Given the description of an element on the screen output the (x, y) to click on. 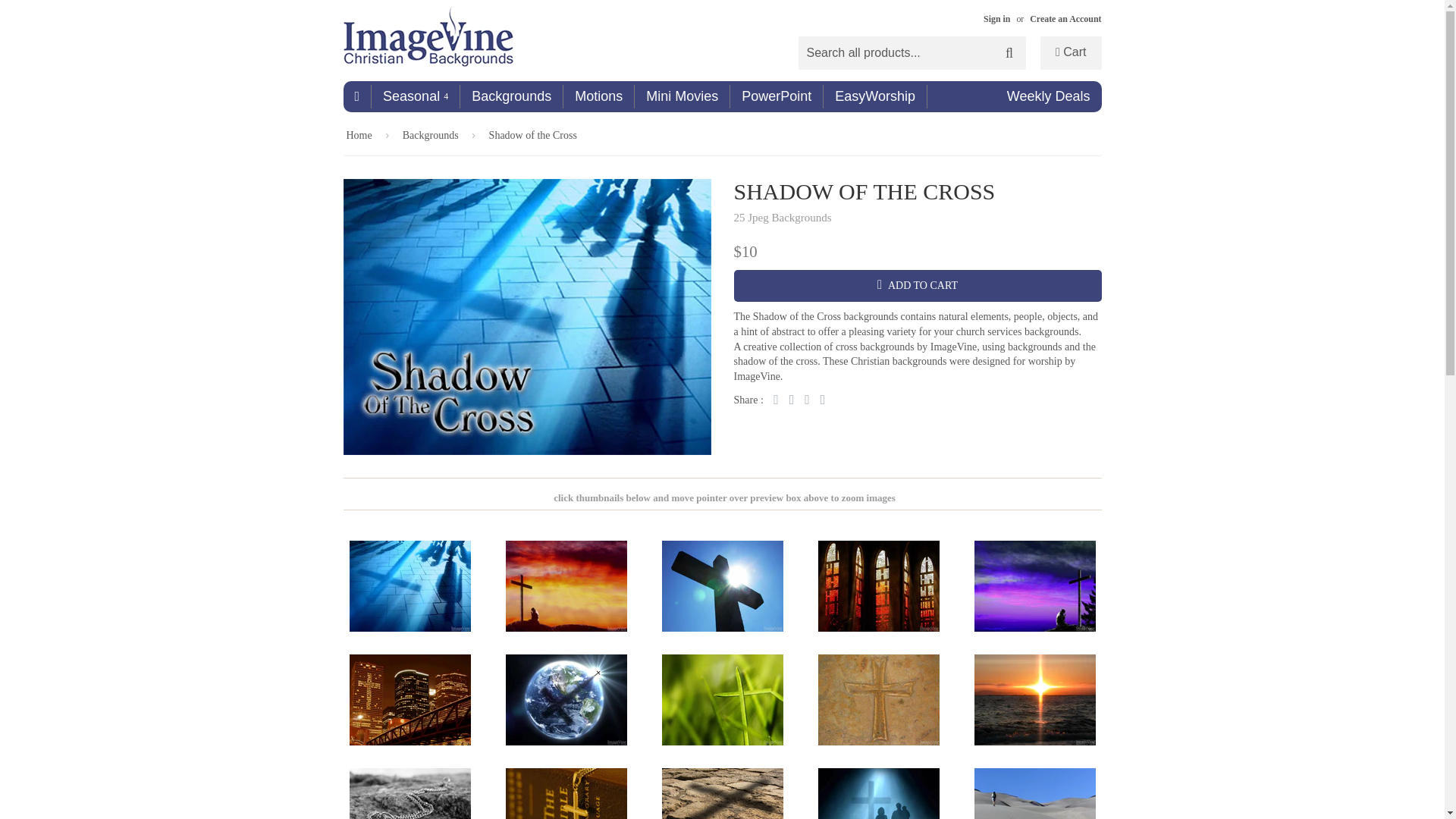
ImageVine (437, 40)
Backgrounds (433, 135)
Cart (1071, 52)
Home (356, 96)
Mini Movies (682, 96)
0 (1071, 52)
Backgrounds (511, 96)
EasyWorship (875, 96)
Search (1008, 53)
Weekly Deals (1048, 96)
Mini Movies (682, 96)
Motions (598, 96)
PowerPoint (777, 96)
Seasonal (415, 96)
Backgrounds (511, 96)
